Given the description of an element on the screen output the (x, y) to click on. 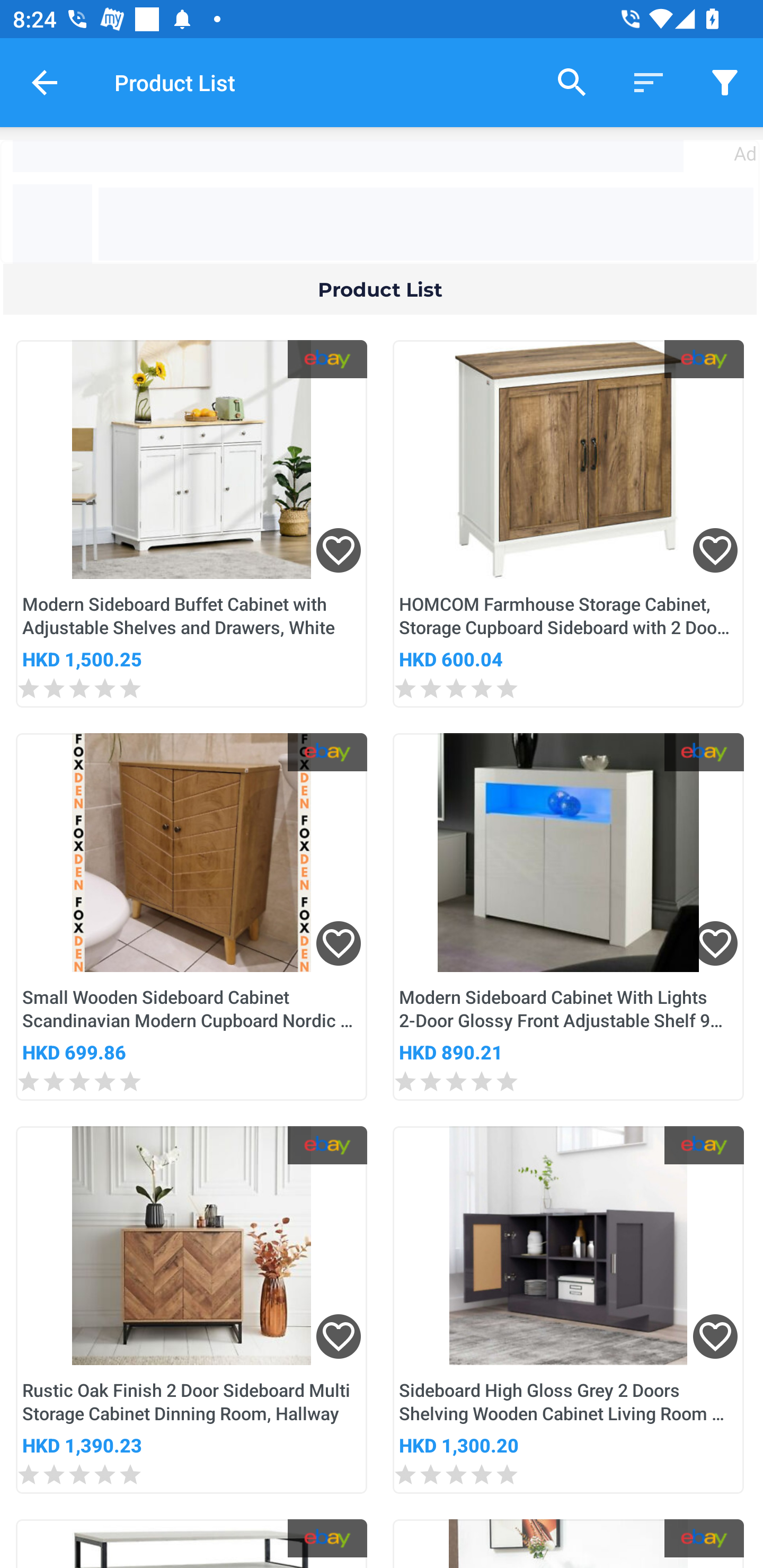
Navigate up (44, 82)
Search (572, 81)
short (648, 81)
short (724, 81)
